Given the description of an element on the screen output the (x, y) to click on. 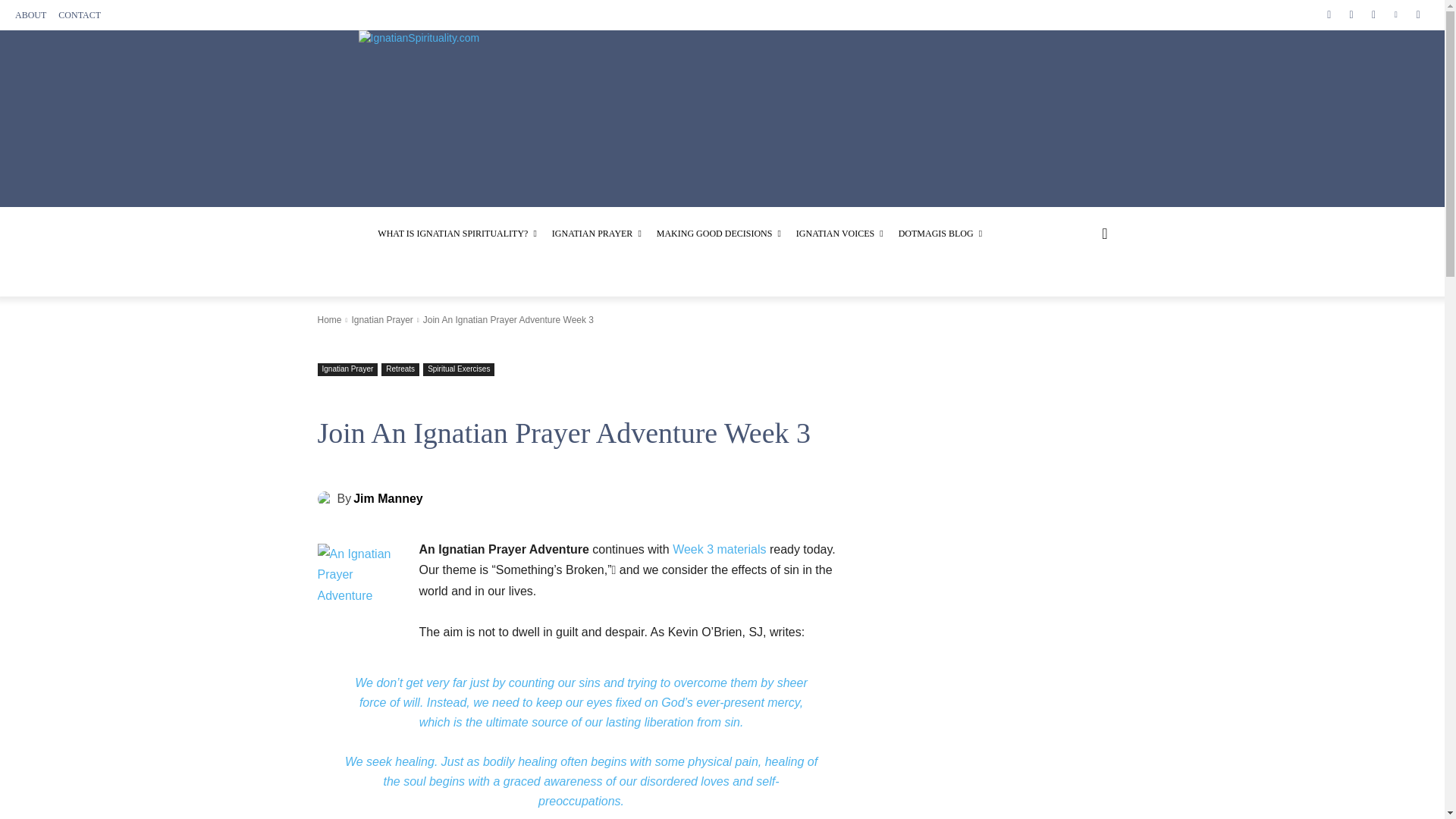
CONTACT (79, 15)
Twitter (1373, 14)
Instagram (1350, 14)
ABOUT (30, 15)
Vimeo (1395, 14)
Facebook (1328, 14)
Youtube (1418, 14)
